Given the description of an element on the screen output the (x, y) to click on. 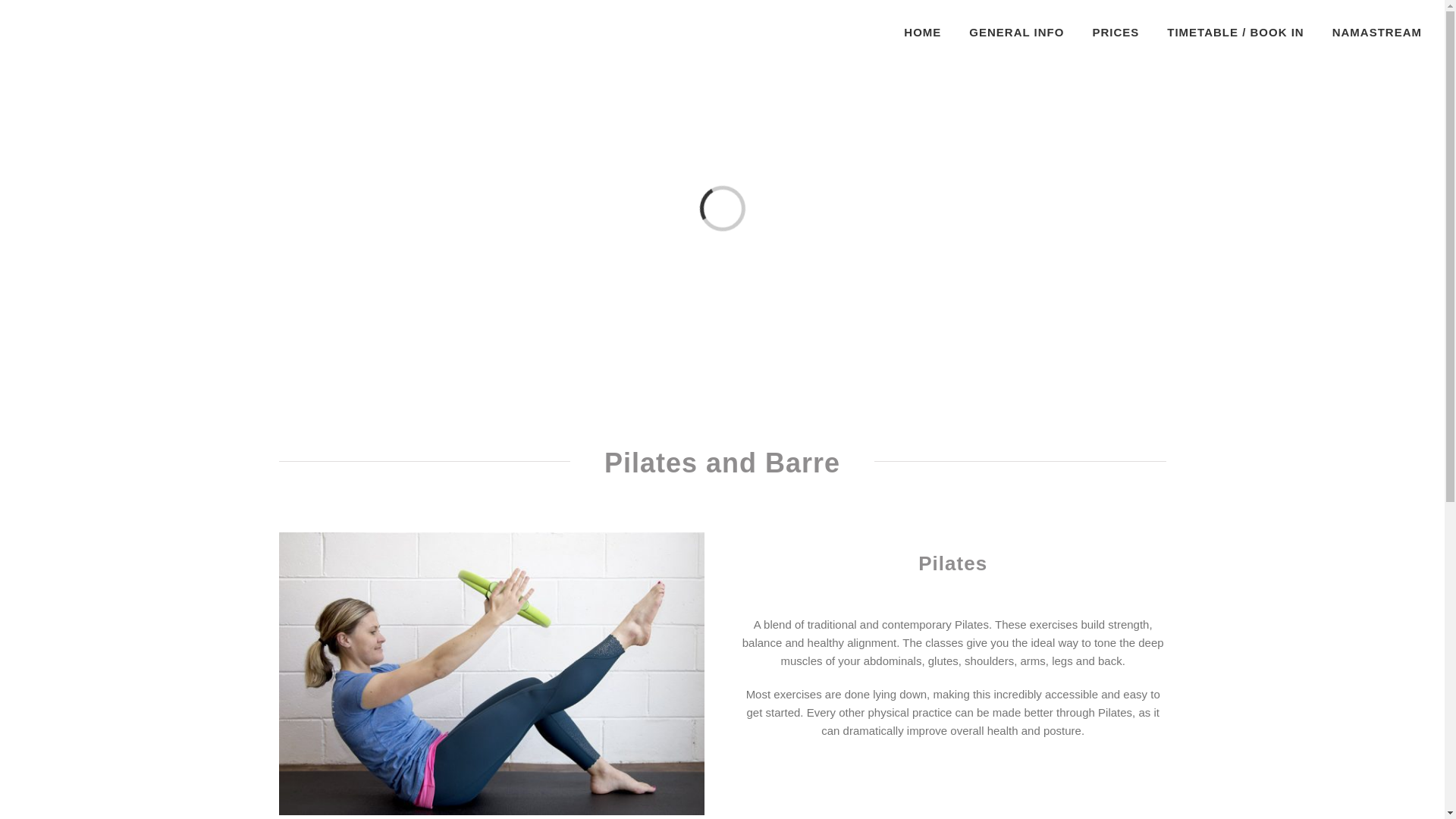
NAMASTREAM (1377, 31)
HOME (922, 31)
Kirsty Pilates Classes (491, 673)
PRICES (1115, 31)
GENERAL INFO (1016, 31)
